Given the description of an element on the screen output the (x, y) to click on. 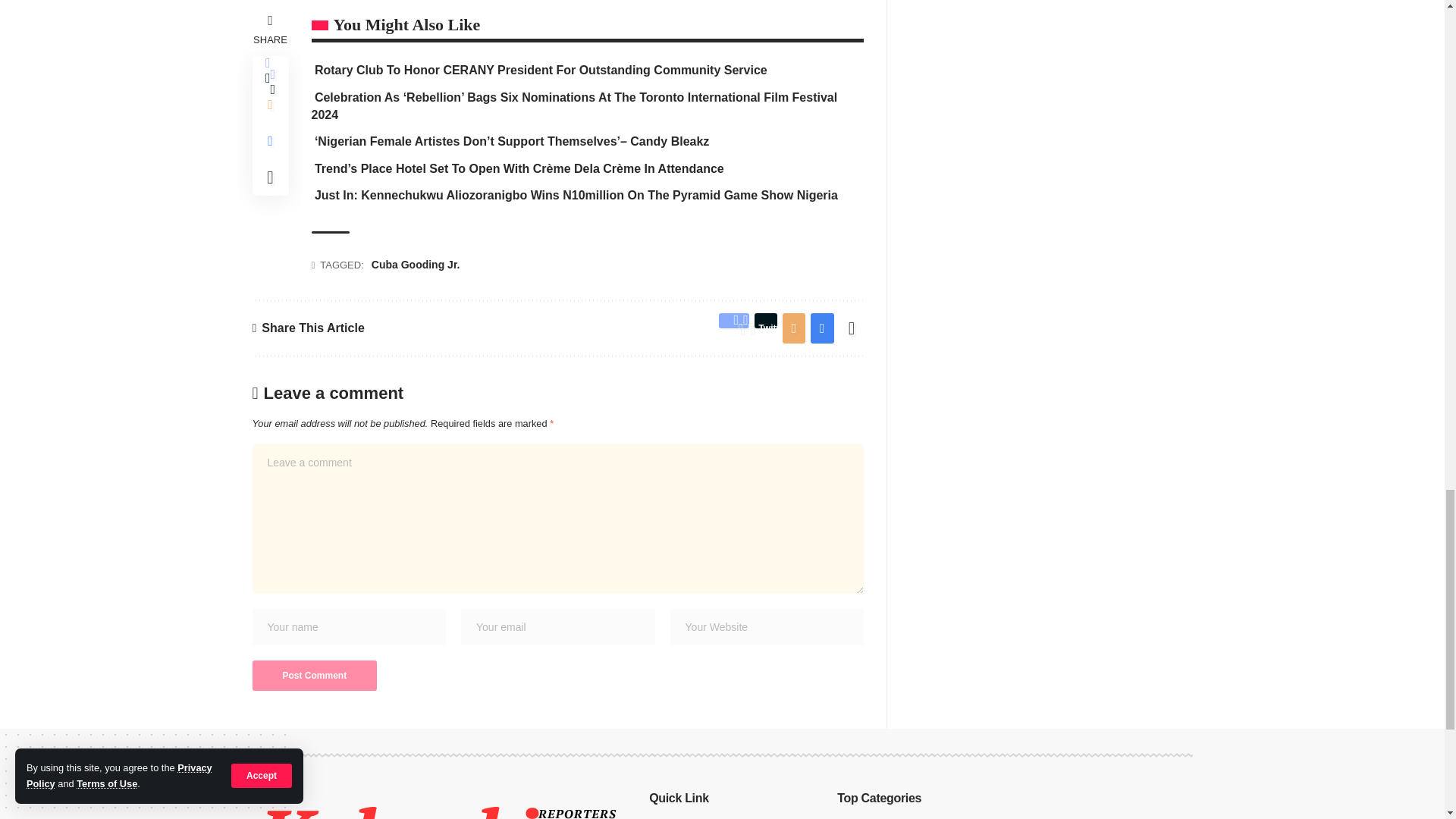
Post Comment (314, 675)
